Given the description of an element on the screen output the (x, y) to click on. 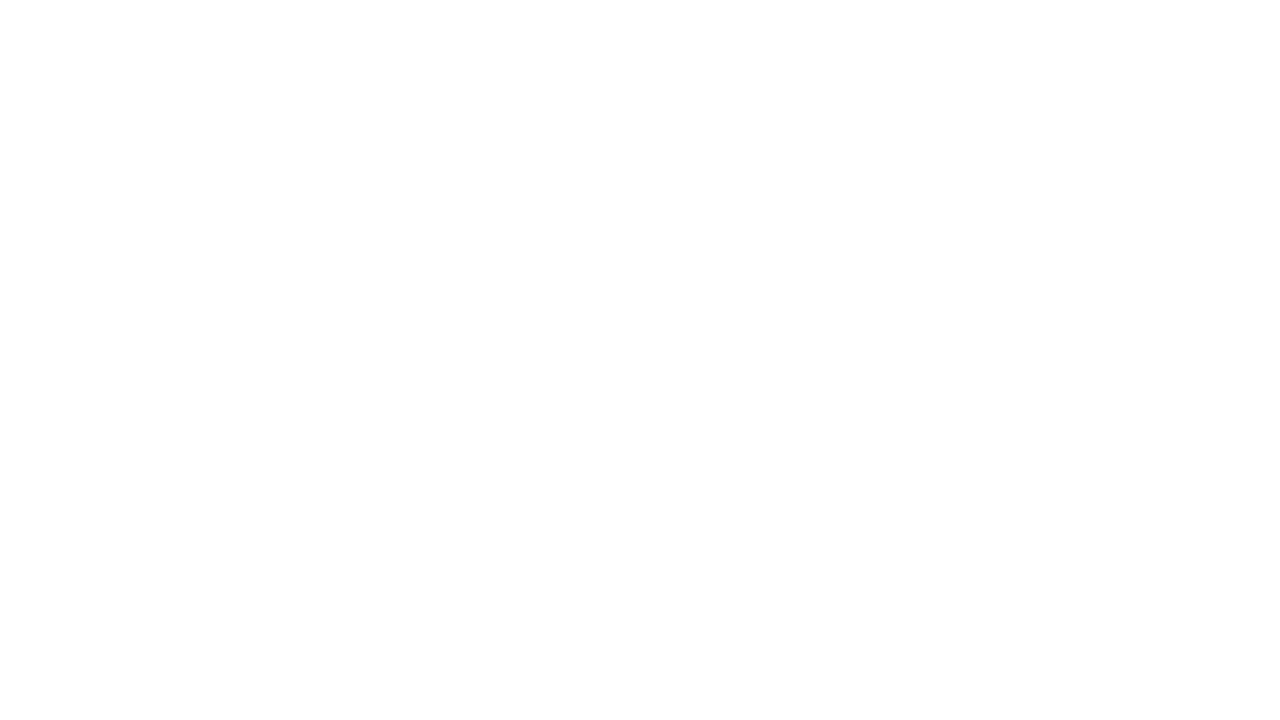
Find whole words only (79, 20)
Match half/full width forms (91, 38)
